Given the description of an element on the screen output the (x, y) to click on. 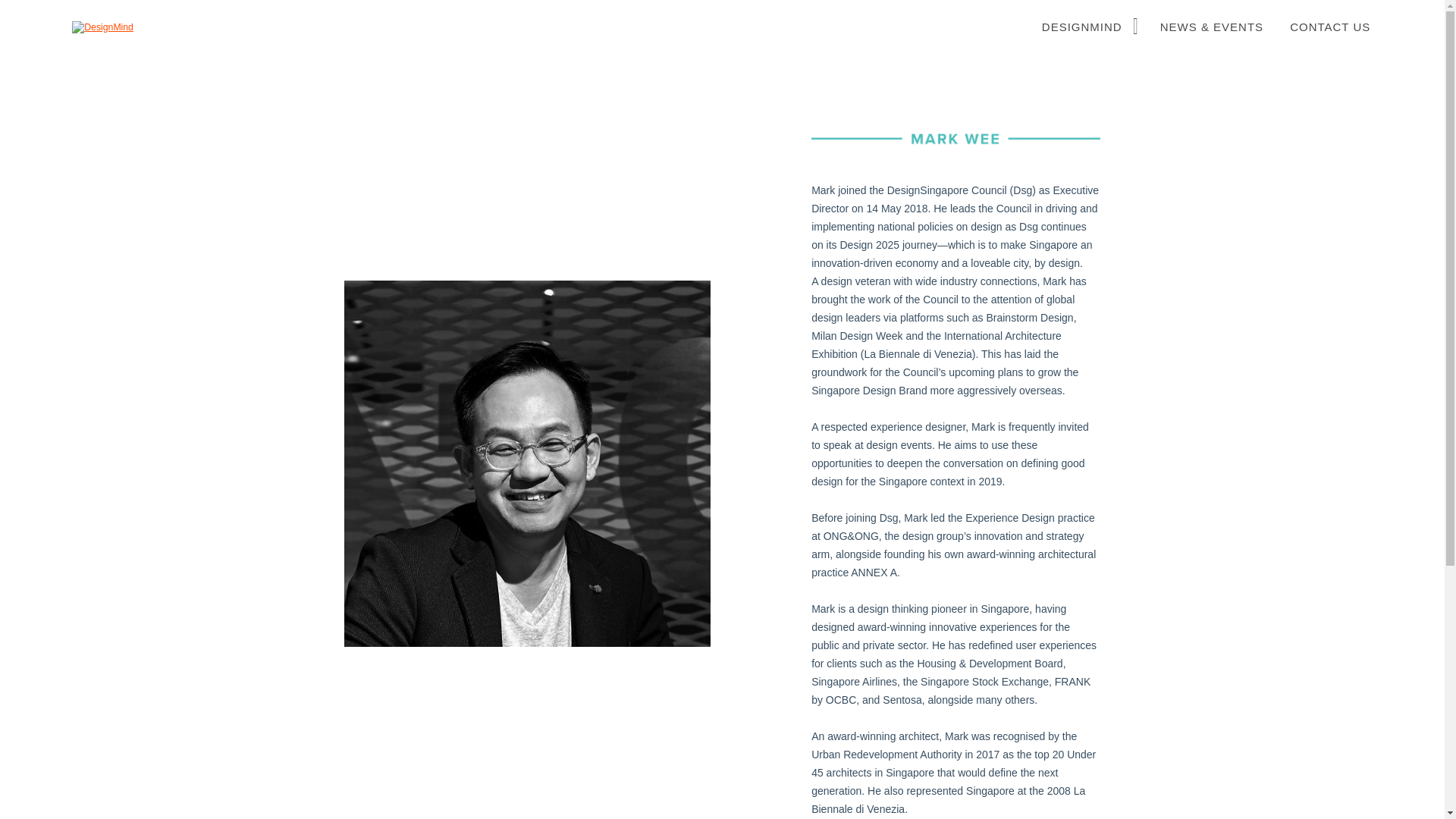
DESIGNMIND Element type: text (1085, 26)
CONTACT US Element type: text (1330, 26)
NEWS & EVENTS Element type: text (1211, 26)
